Given the description of an element on the screen output the (x, y) to click on. 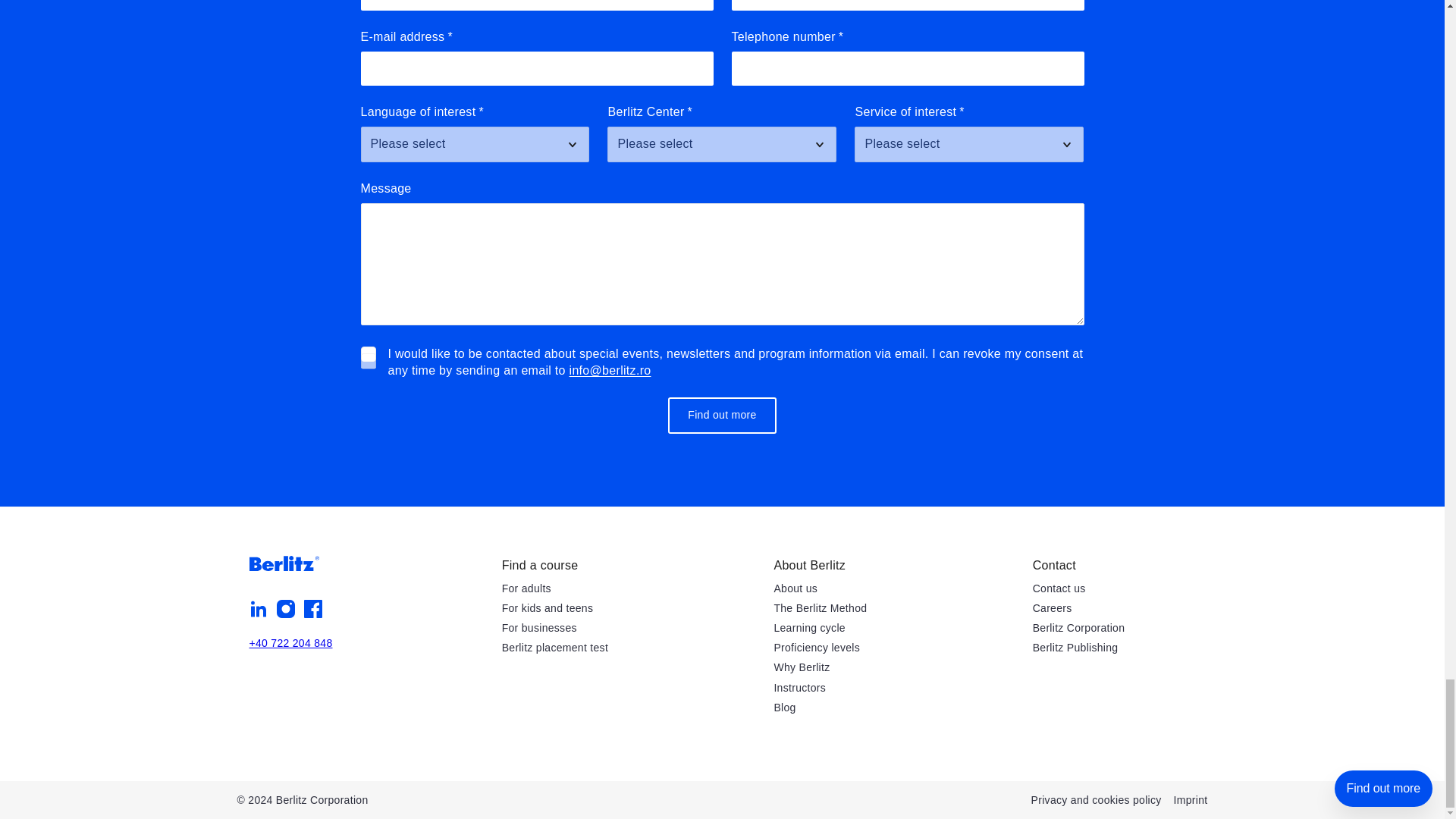
home (283, 563)
